Given the description of an element on the screen output the (x, y) to click on. 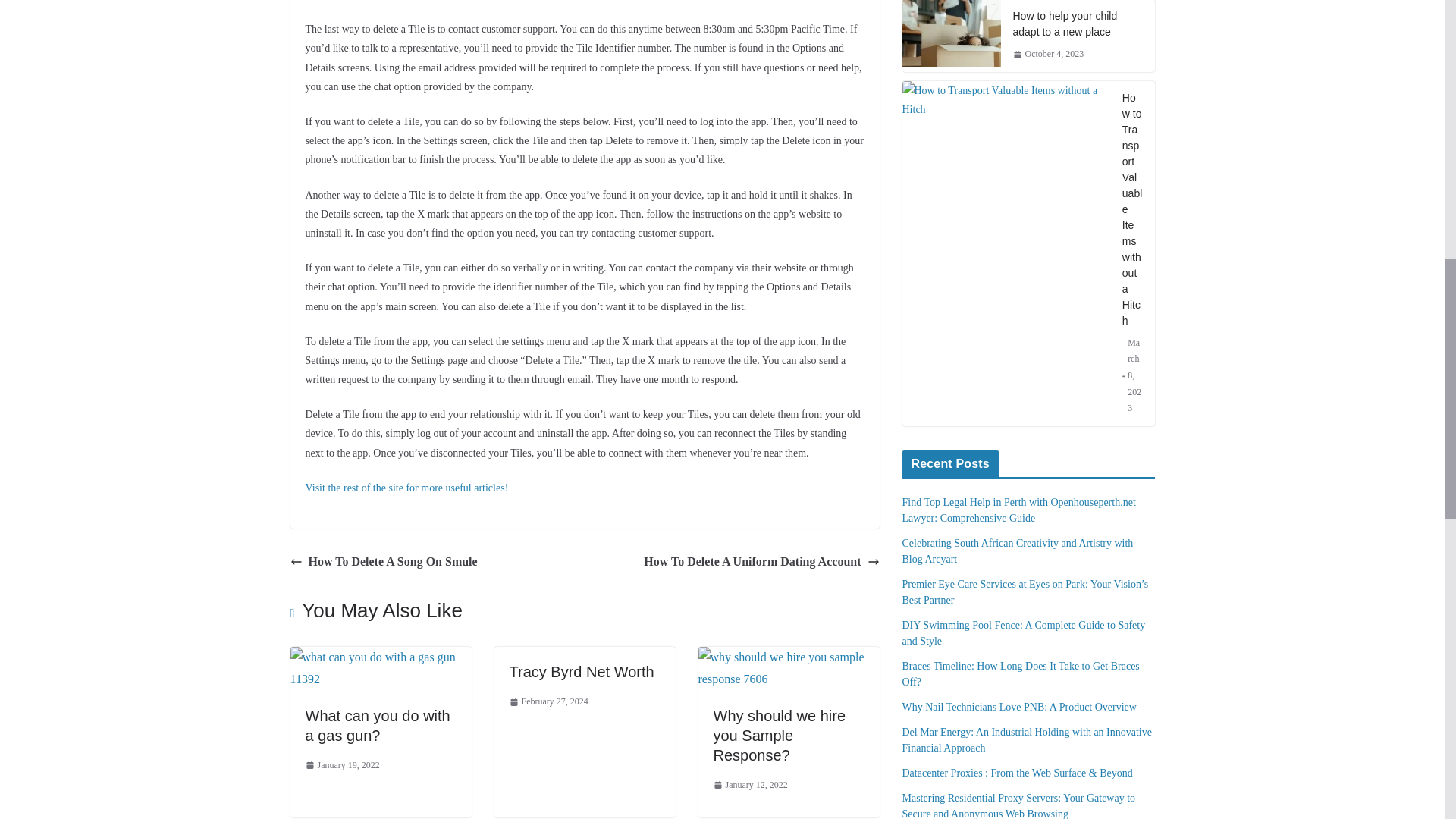
Why should we hire you Sample Response? (779, 735)
January 12, 2022 (750, 785)
How To Delete A Song On Smule (383, 562)
January 19, 2022 (341, 765)
Tracy Byrd Net Worth (581, 671)
What can you do with a gas gun? (379, 656)
Visit the rest of the site for more useful articles! (406, 487)
How To Delete A Uniform Dating Account (761, 562)
February 27, 2024 (548, 701)
What can you do with a gas gun? (376, 725)
